Given the description of an element on the screen output the (x, y) to click on. 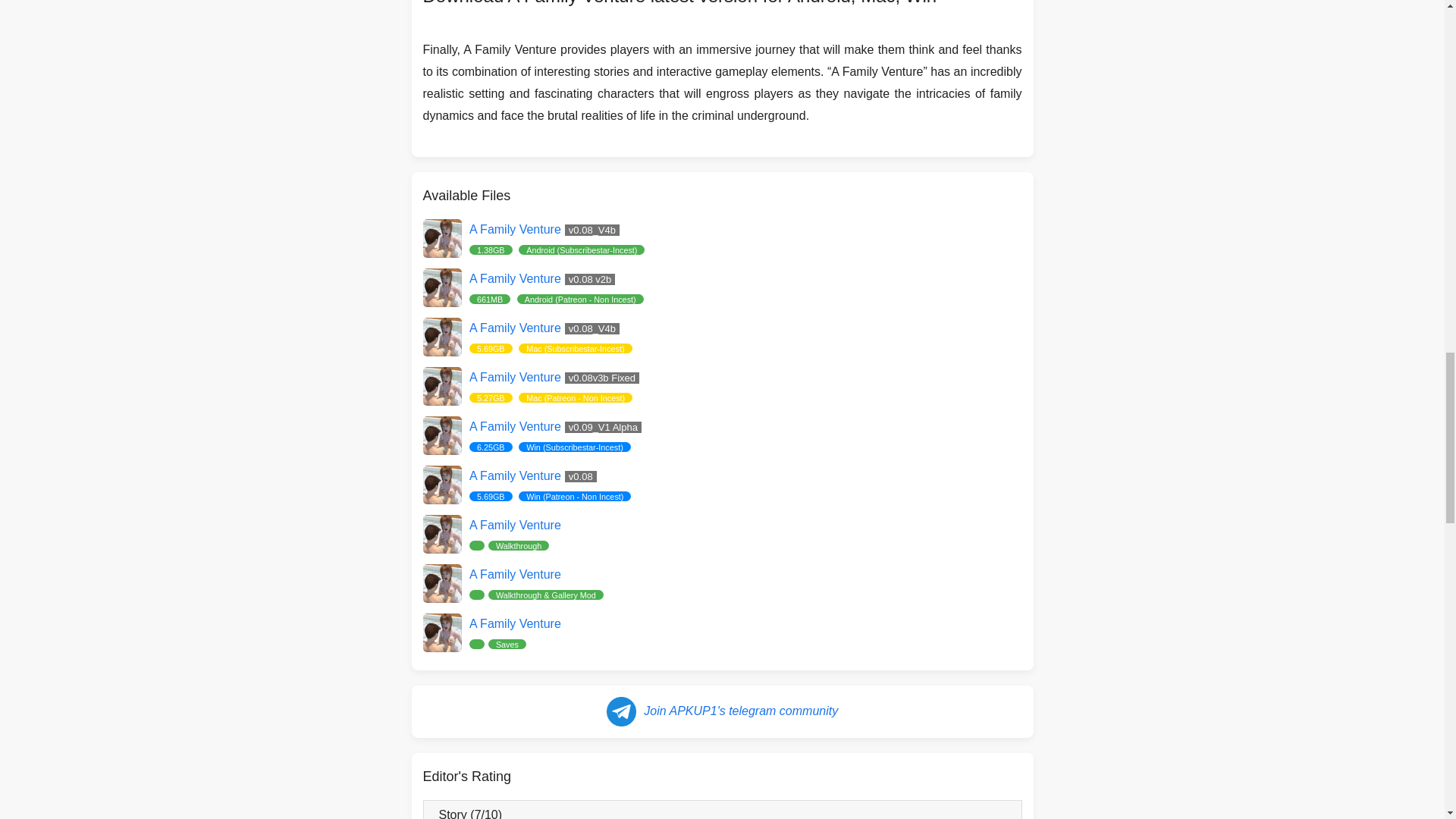
Join APKUP1's telegram community (722, 533)
